Given the description of an element on the screen output the (x, y) to click on. 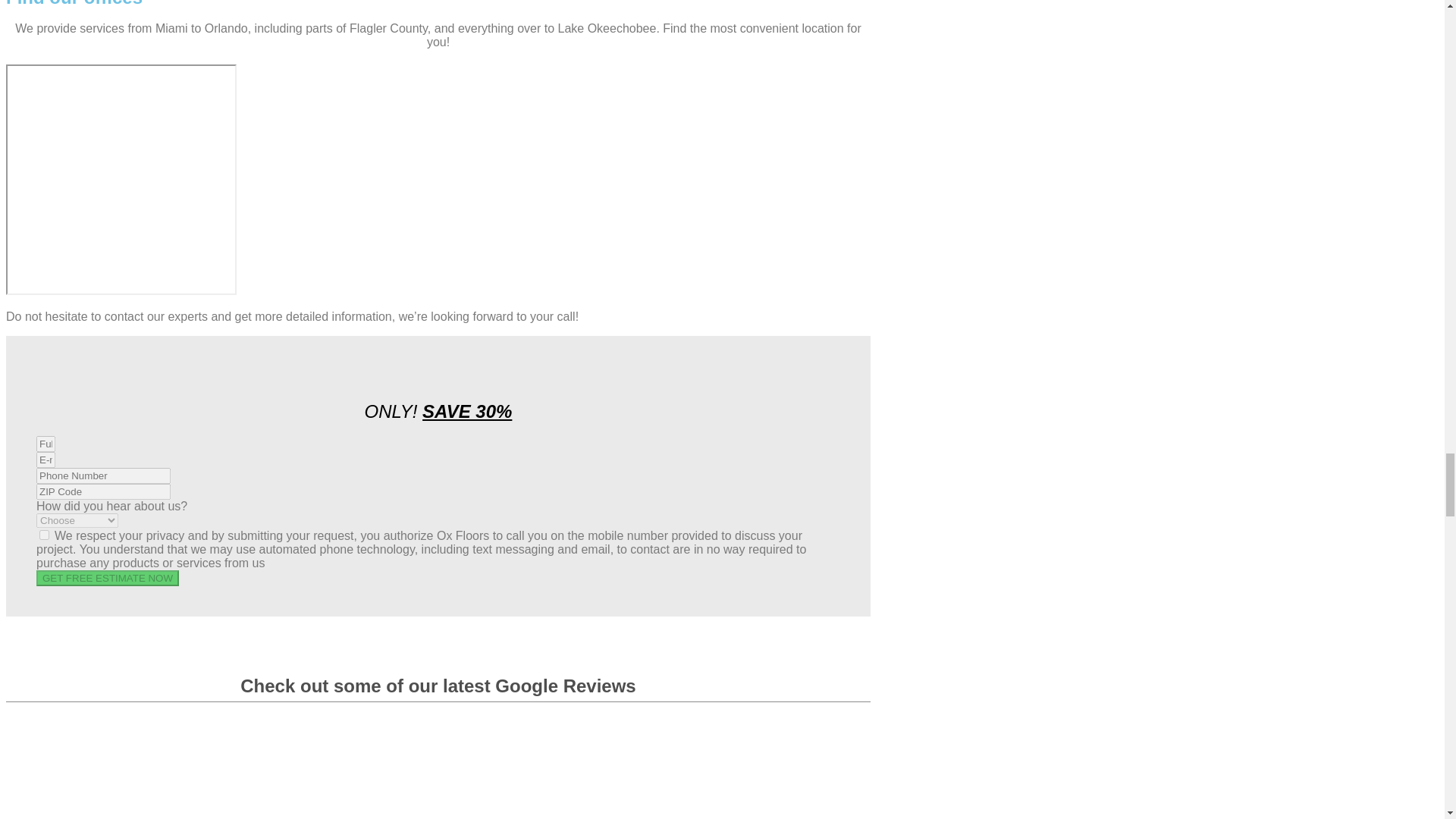
GET FREE ESTIMATE NOW (107, 578)
on (44, 534)
